Given the description of an element on the screen output the (x, y) to click on. 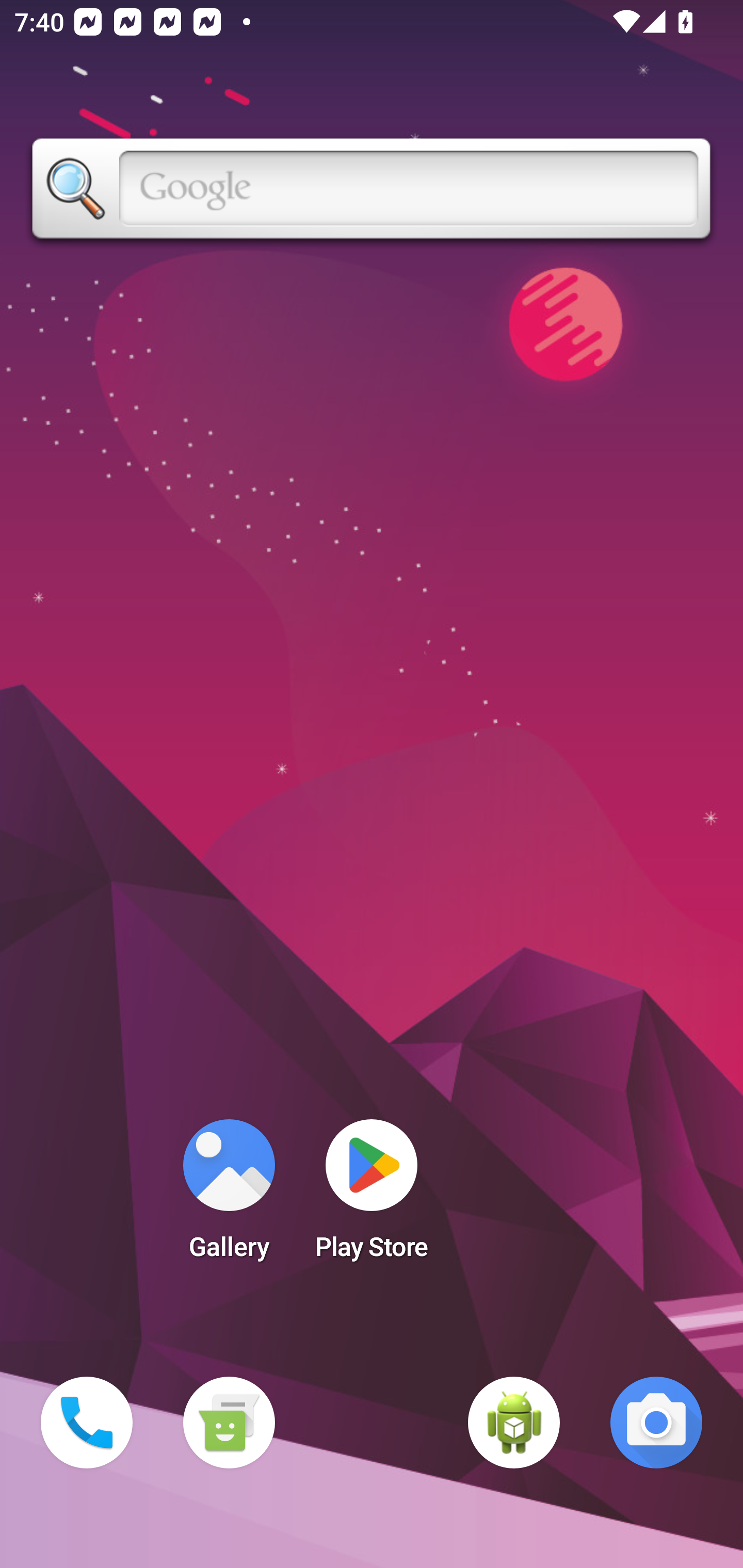
Gallery (228, 1195)
Play Store (371, 1195)
Phone (86, 1422)
Messaging (228, 1422)
WebView Browser Tester (513, 1422)
Camera (656, 1422)
